Given the description of an element on the screen output the (x, y) to click on. 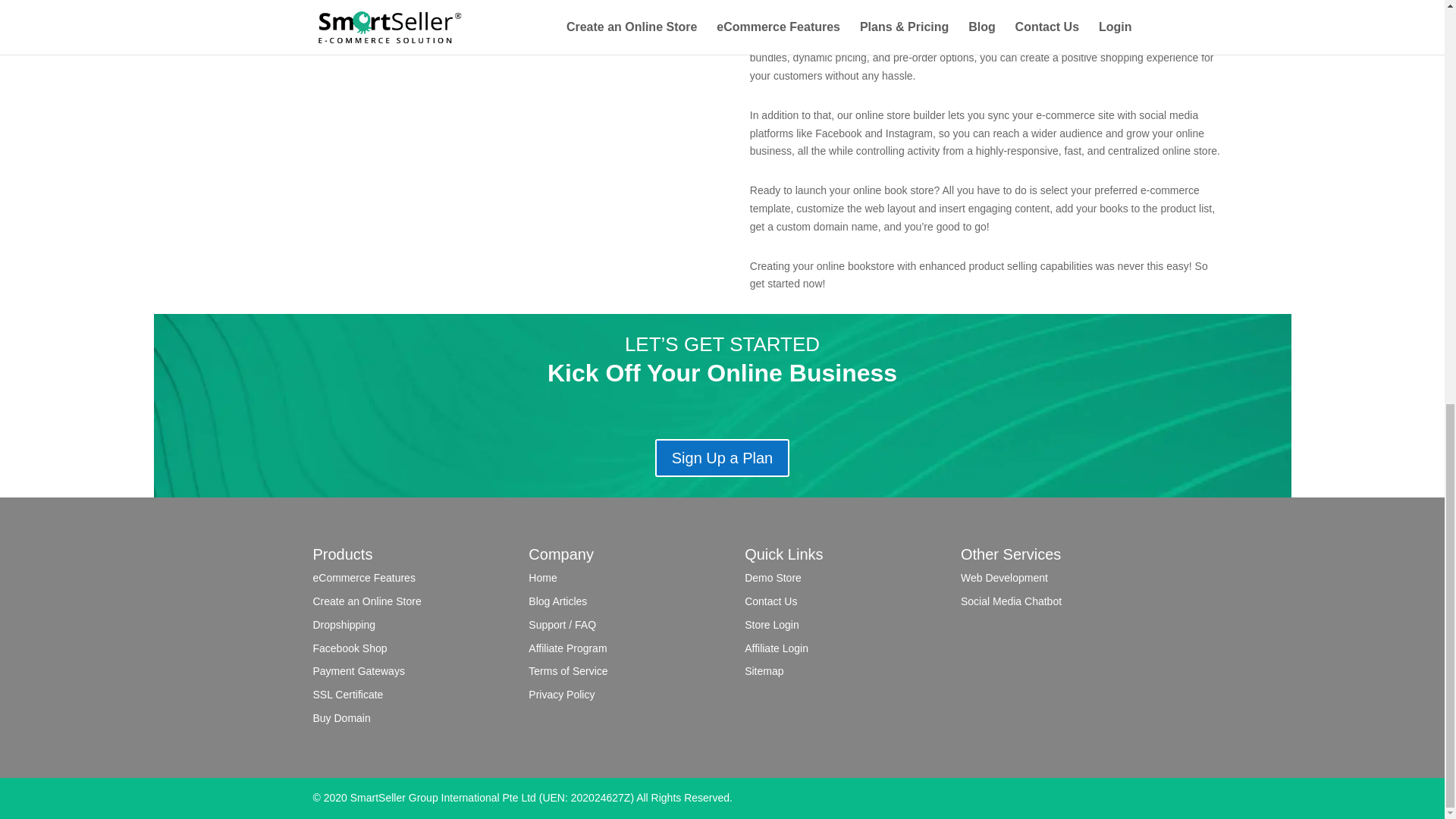
Payment Gateways (358, 671)
Facebook Shop (350, 648)
Terms of Service (567, 671)
Social Media Chatbot (1010, 601)
Affiliate Program (567, 648)
SSL Certificate (347, 694)
Affiliate Login (776, 648)
Create an Online Store (366, 601)
Dropshipping (344, 624)
Privacy Policy (561, 694)
